Given the description of an element on the screen output the (x, y) to click on. 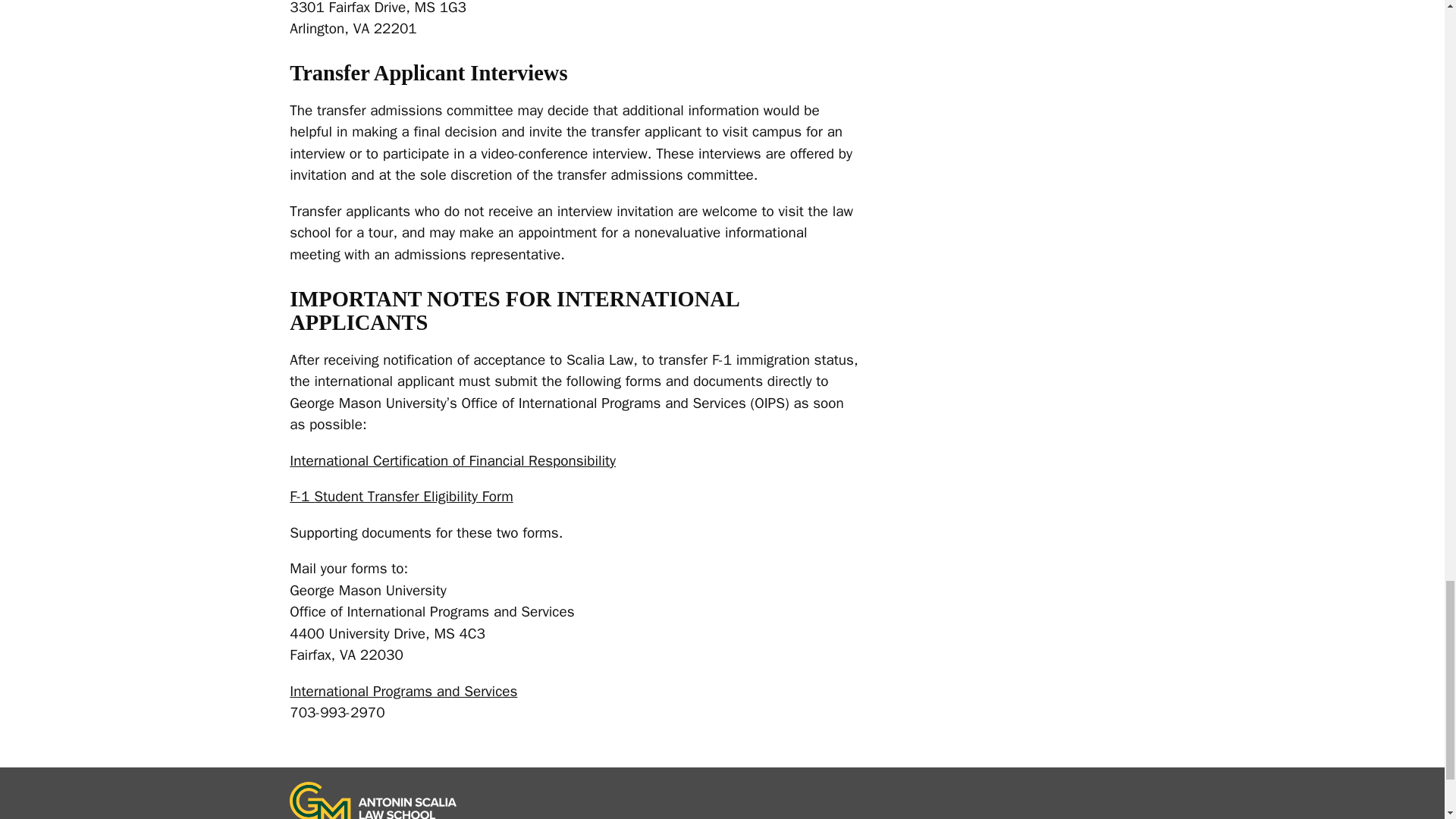
International Certification of Financial Responsibility (458, 461)
F-1 Student Transfer Eligibility Form (407, 496)
International Programs and Services (410, 691)
